Given the description of an element on the screen output the (x, y) to click on. 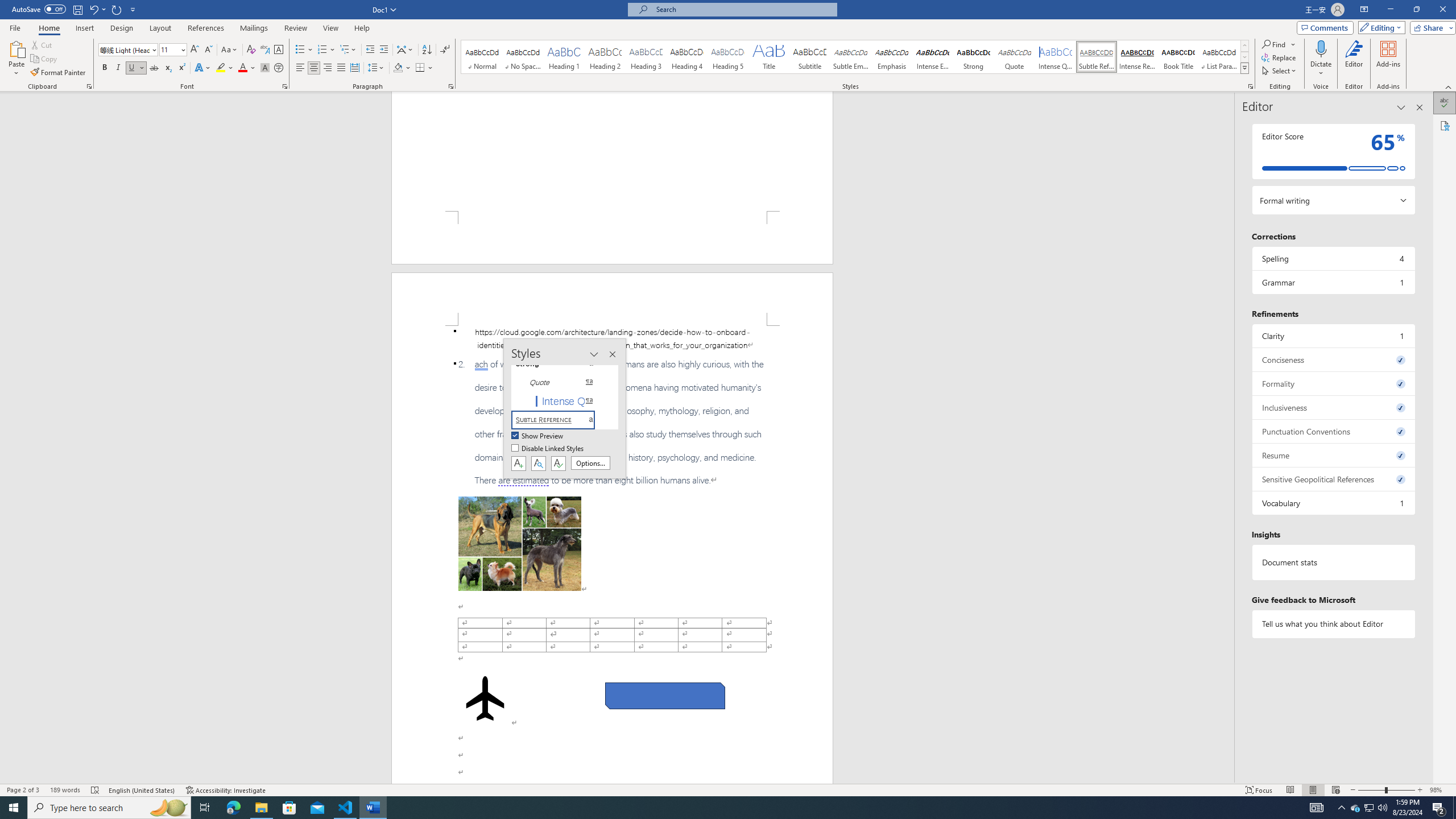
Text Highlight Color Yellow (220, 67)
Superscript (180, 67)
Options... (590, 463)
Editing (1379, 27)
Spelling, 4 issues. Press space or enter to review items. (1333, 258)
Quote (1014, 56)
Editor Score 65% (1333, 151)
Grammar, 1 issue. Press space or enter to review items. (1333, 282)
Show/Hide Editing Marks (444, 49)
Class: NetUIImage (1245, 68)
Read Mode (1290, 790)
